Given the description of an element on the screen output the (x, y) to click on. 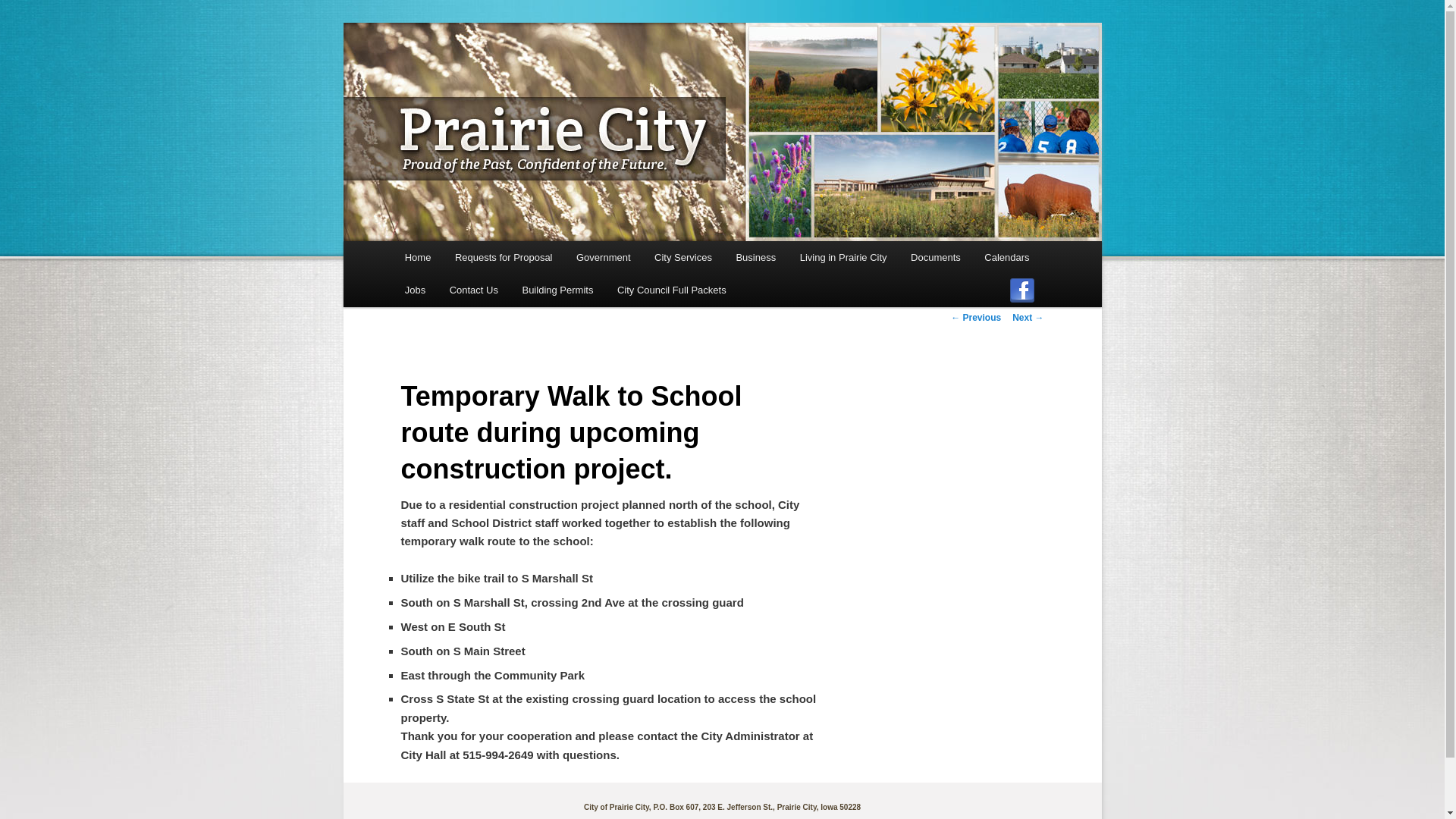
Documents (935, 256)
Living in Prairie City (842, 256)
Prairie City (459, 77)
Home (417, 256)
Business (755, 256)
City Services (682, 256)
Requests for Proposal (503, 256)
Prairie City (459, 77)
Government (603, 256)
